Given the description of an element on the screen output the (x, y) to click on. 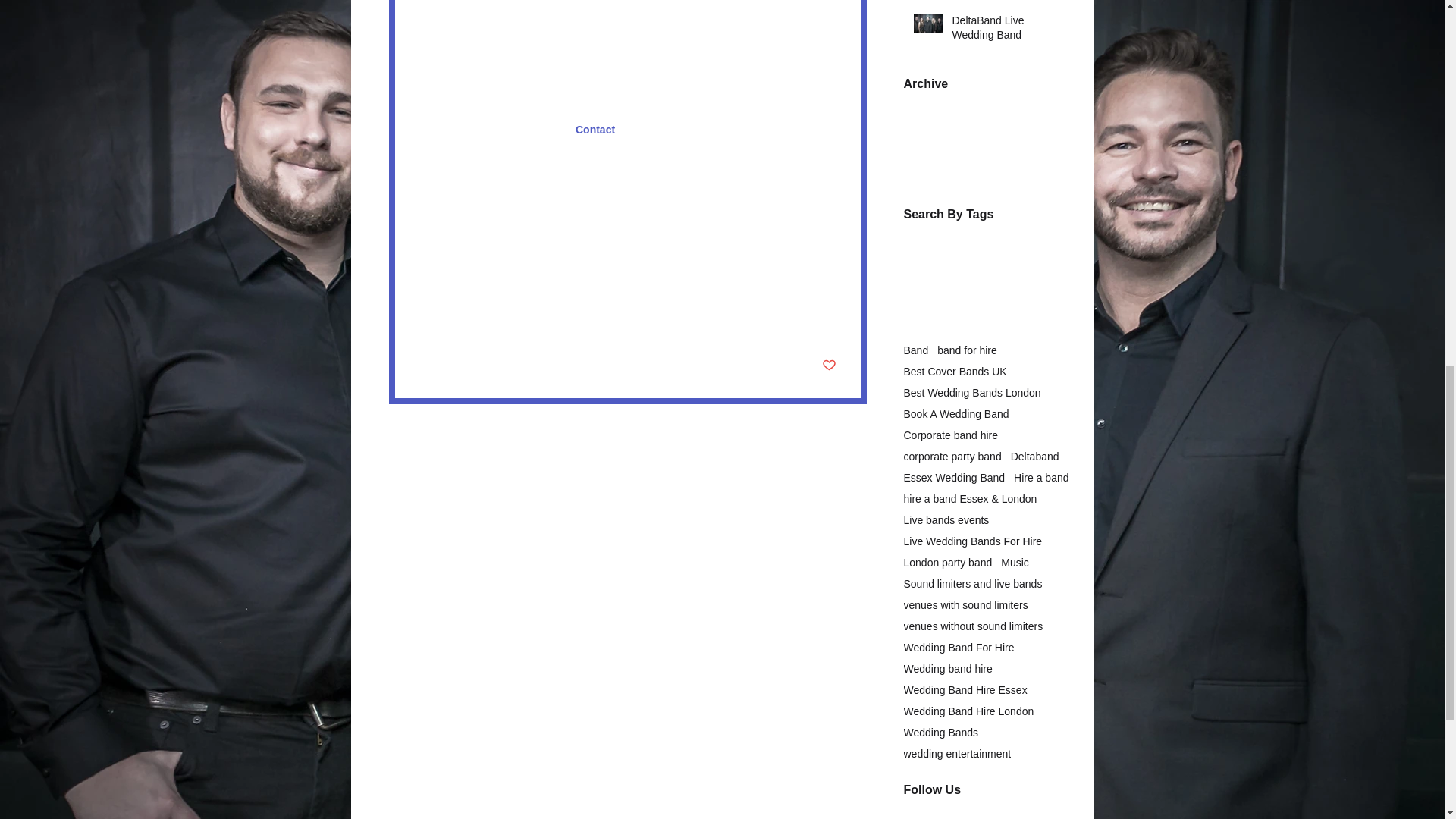
Book A Wedding Band (956, 413)
Contact (594, 129)
DeltaBand Live Wedding Band (1006, 31)
venues without sound limiters (636, 246)
Best Wedding Bands London (972, 392)
band for hire (967, 349)
venues with sound limiters (481, 268)
Best Cover Bands UK (955, 371)
Band (916, 349)
Sound limiters and live bands (488, 246)
Post not marked as liked (828, 365)
Wedding Band Hire London (680, 225)
Wedding Band Hire Essex (545, 225)
Corporate band hire (951, 435)
Hire a band (446, 225)
